Given the description of an element on the screen output the (x, y) to click on. 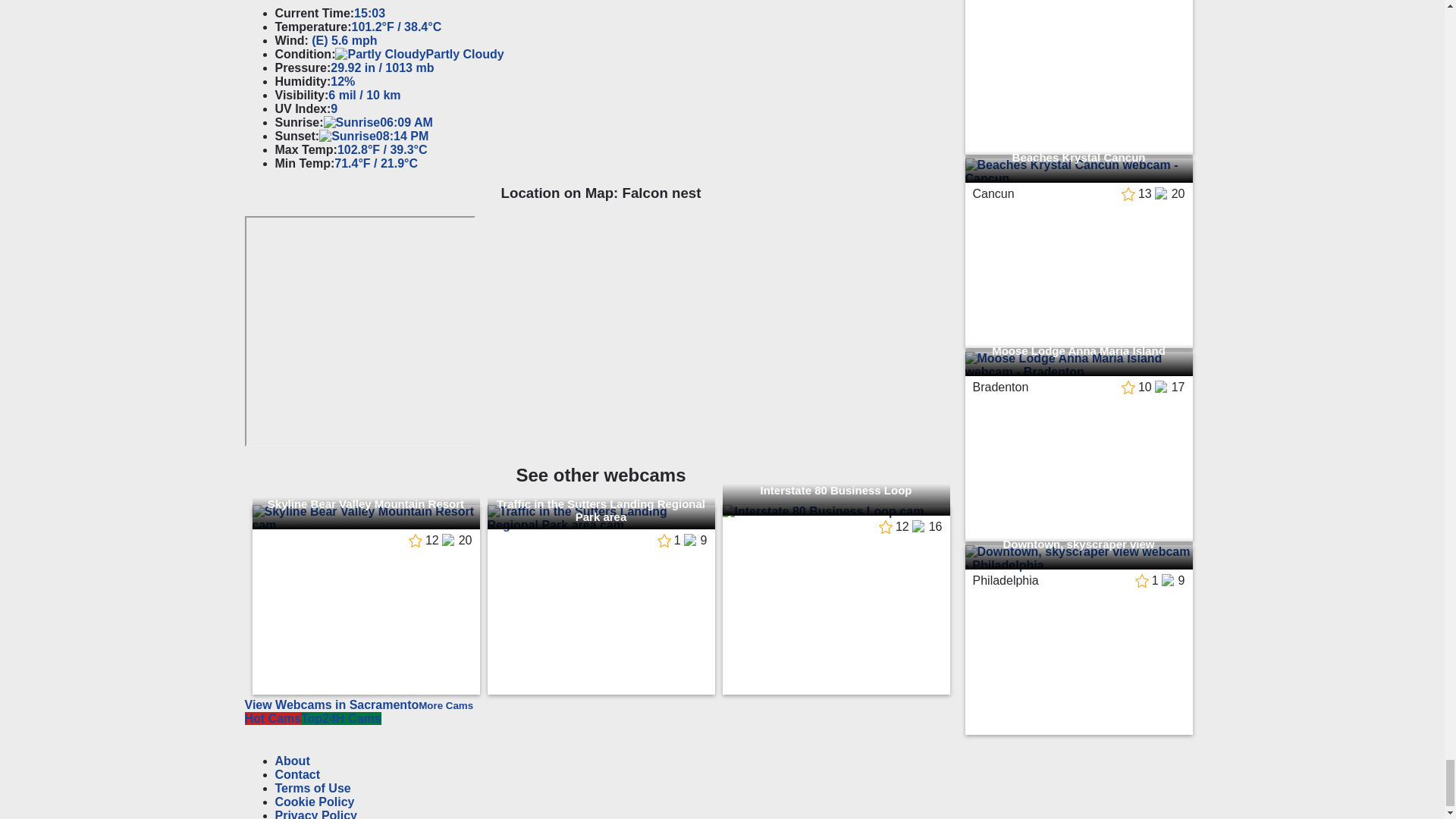
See Traffic in the Sutters Landing Regional Park area (600, 518)
See Interstate 80 Business Loop (835, 511)
See Skyline Bear Valley Mountain Resort (365, 518)
